Given the description of an element on the screen output the (x, y) to click on. 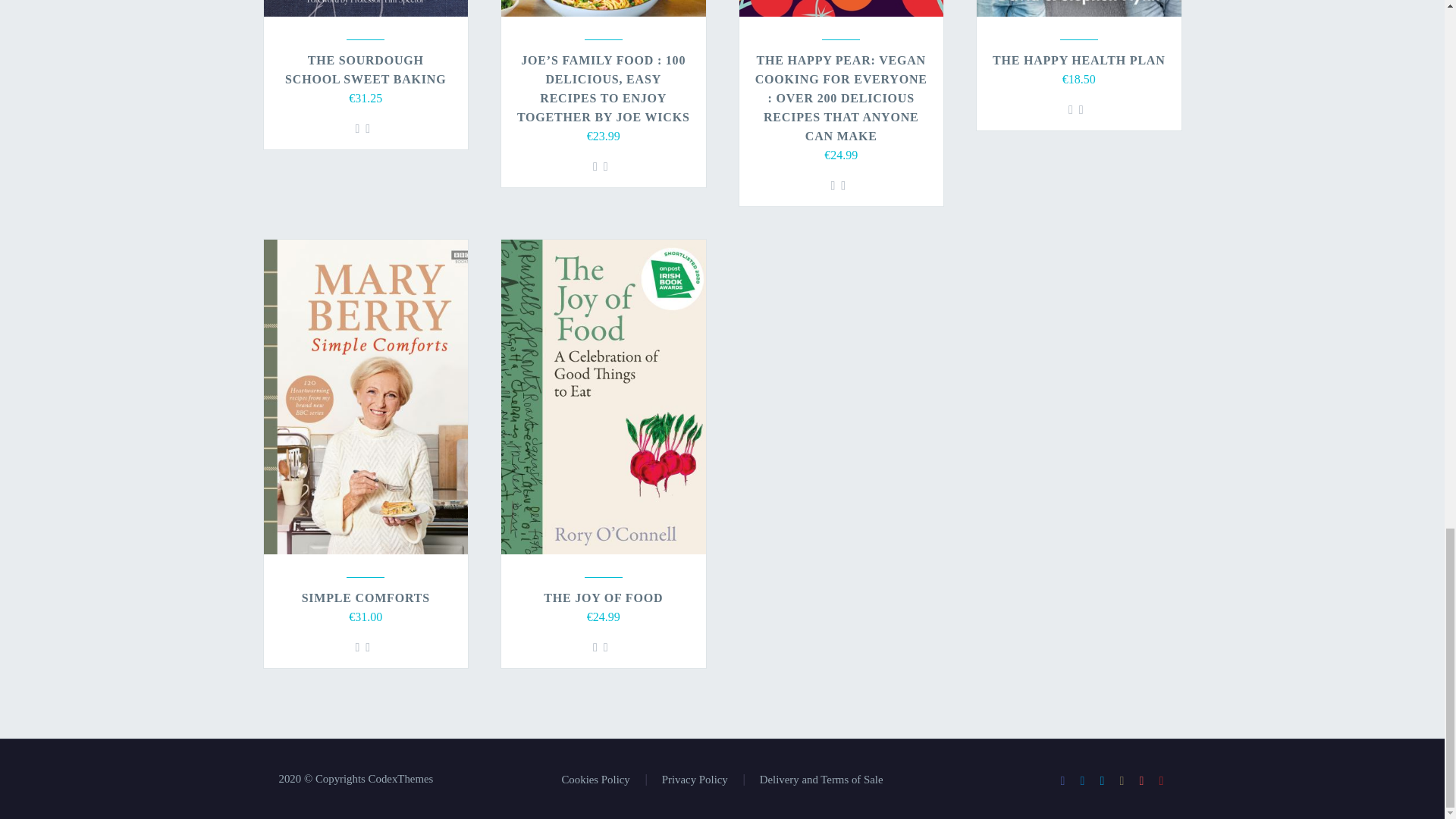
THE SOURDOUGH SCHOOL SWEET BAKING (365, 69)
THE HAPPY HEALTH PLAN (1079, 60)
Instagram (1122, 780)
YouTube (1161, 780)
LinkedIn (1083, 780)
Twitter (1102, 780)
Pinterest (1141, 780)
Facebook (1062, 780)
